Given the description of an element on the screen output the (x, y) to click on. 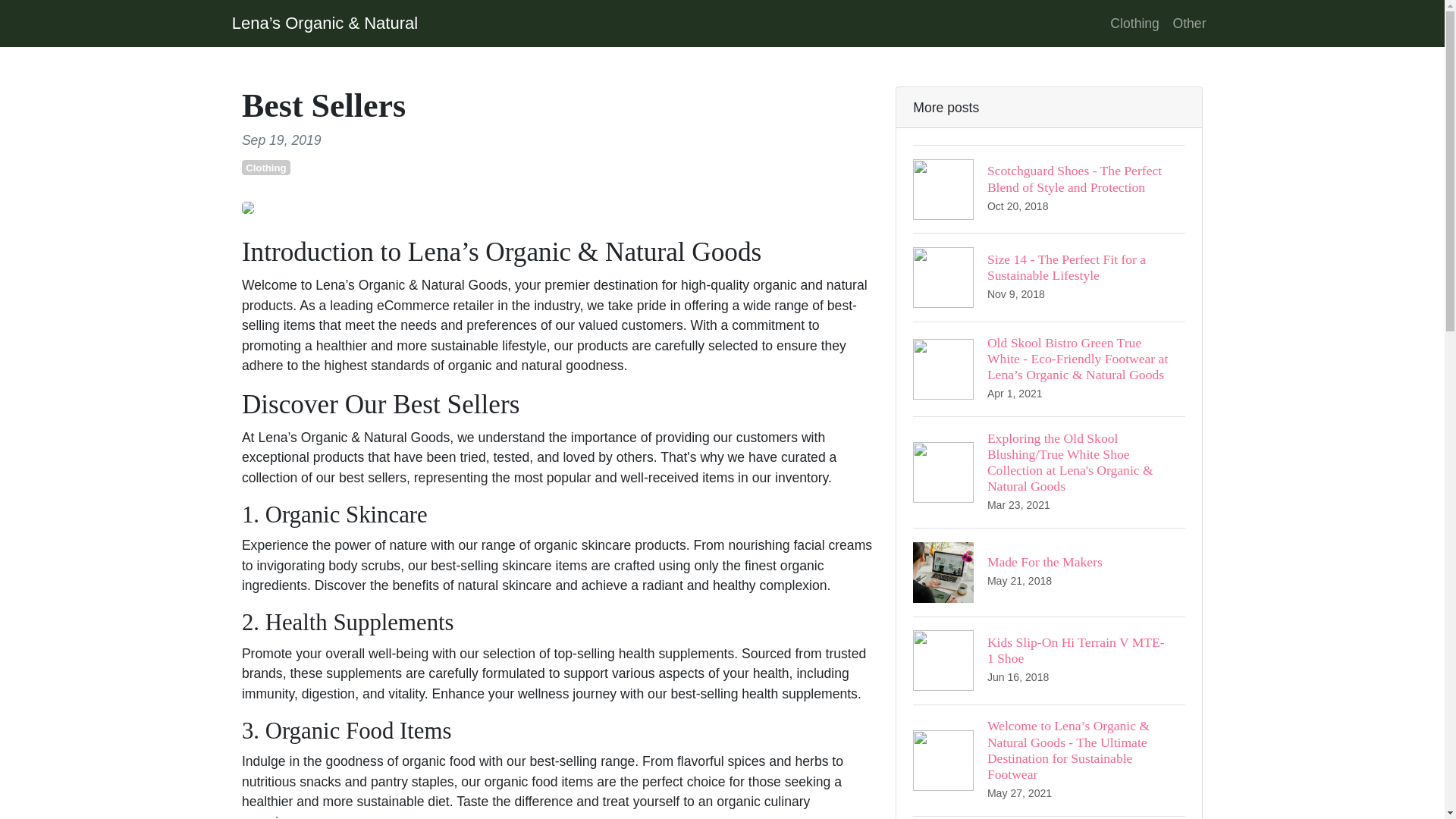
Clothing (1134, 23)
Clothing (1048, 571)
Other (1048, 660)
